Given the description of an element on the screen output the (x, y) to click on. 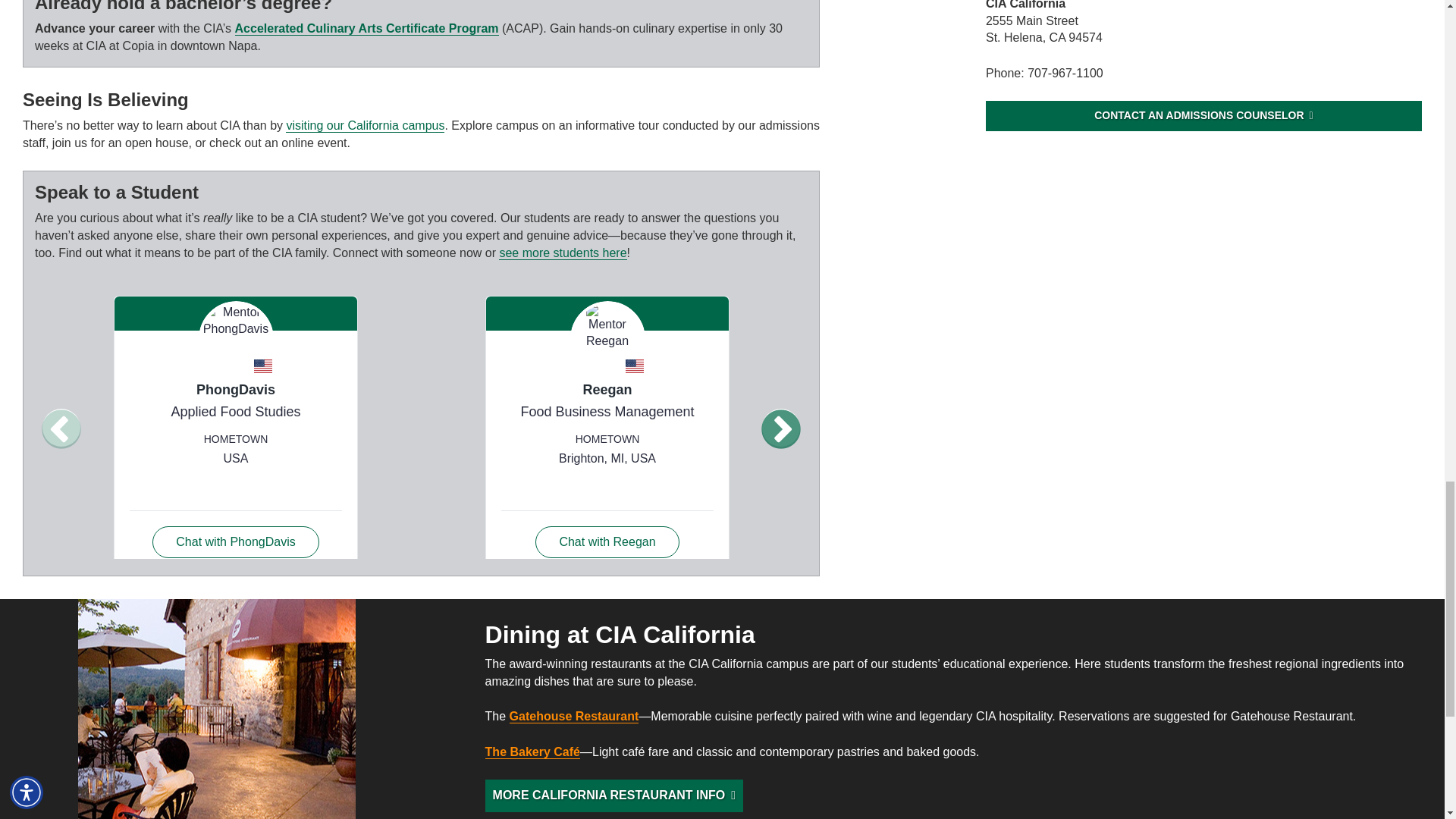
visiting our California campus (364, 125)
Accelerated Culinary Arts Certificate Program (366, 29)
see more students here (562, 253)
